Given the description of an element on the screen output the (x, y) to click on. 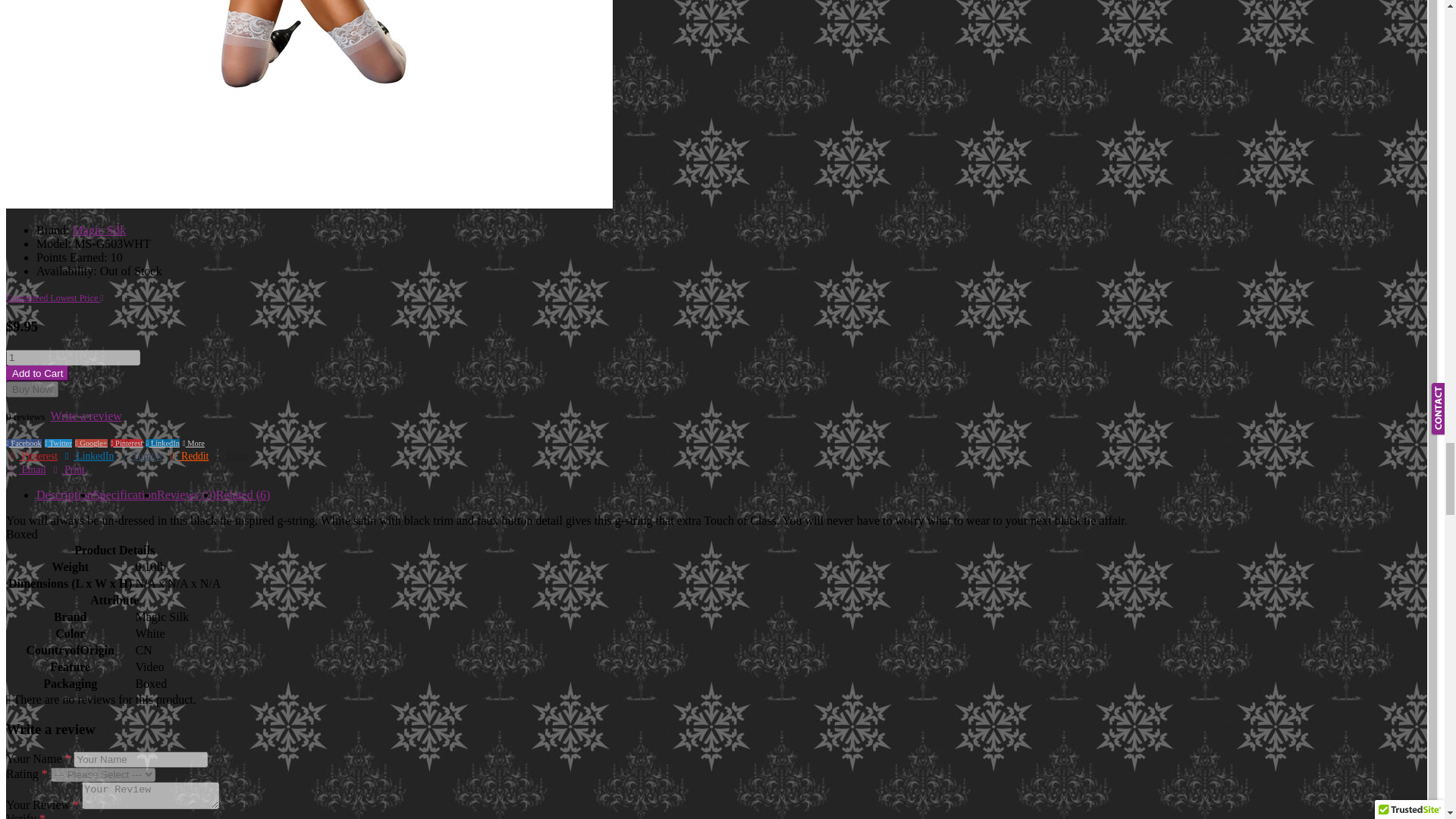
Points Price: 1000 (80, 256)
1 (72, 357)
